Given the description of an element on the screen output the (x, y) to click on. 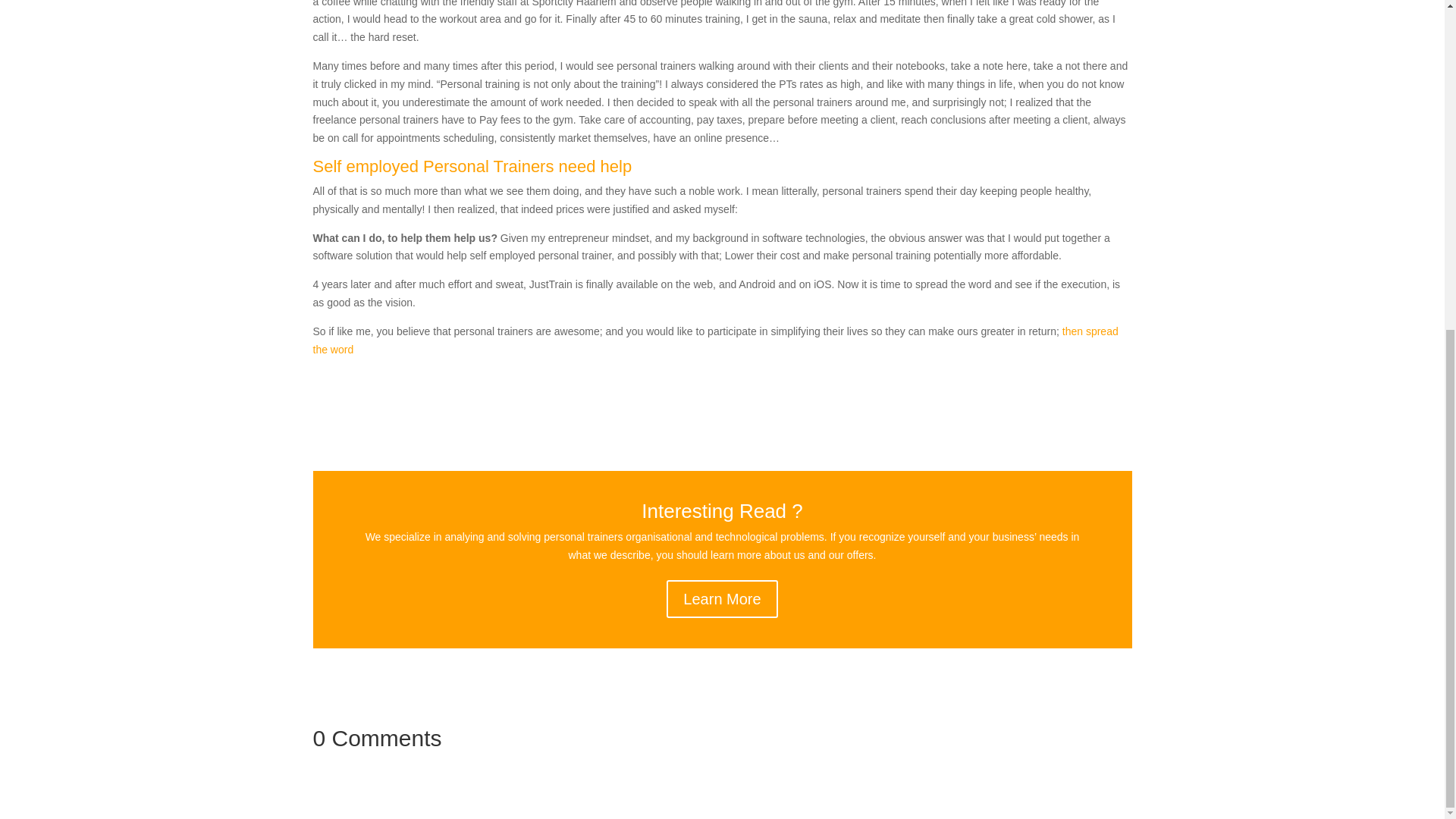
Learn More (721, 598)
then spread the word (715, 340)
